Given the description of an element on the screen output the (x, y) to click on. 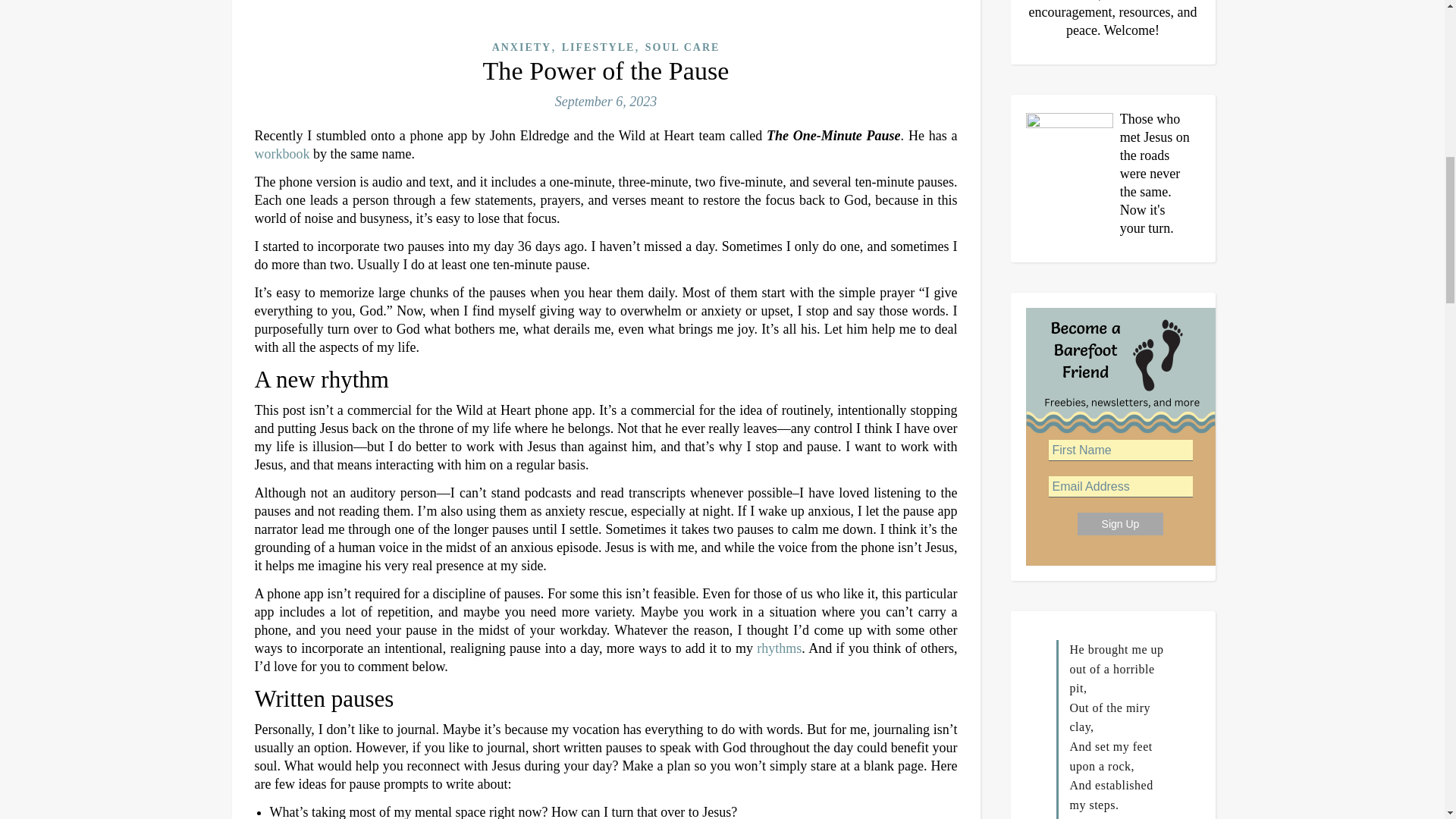
rhythms (779, 648)
workbook (282, 153)
Sign Up (1120, 523)
ANXIETY (521, 47)
LIFESTYLE (598, 47)
SOUL CARE (682, 47)
